Given the description of an element on the screen output the (x, y) to click on. 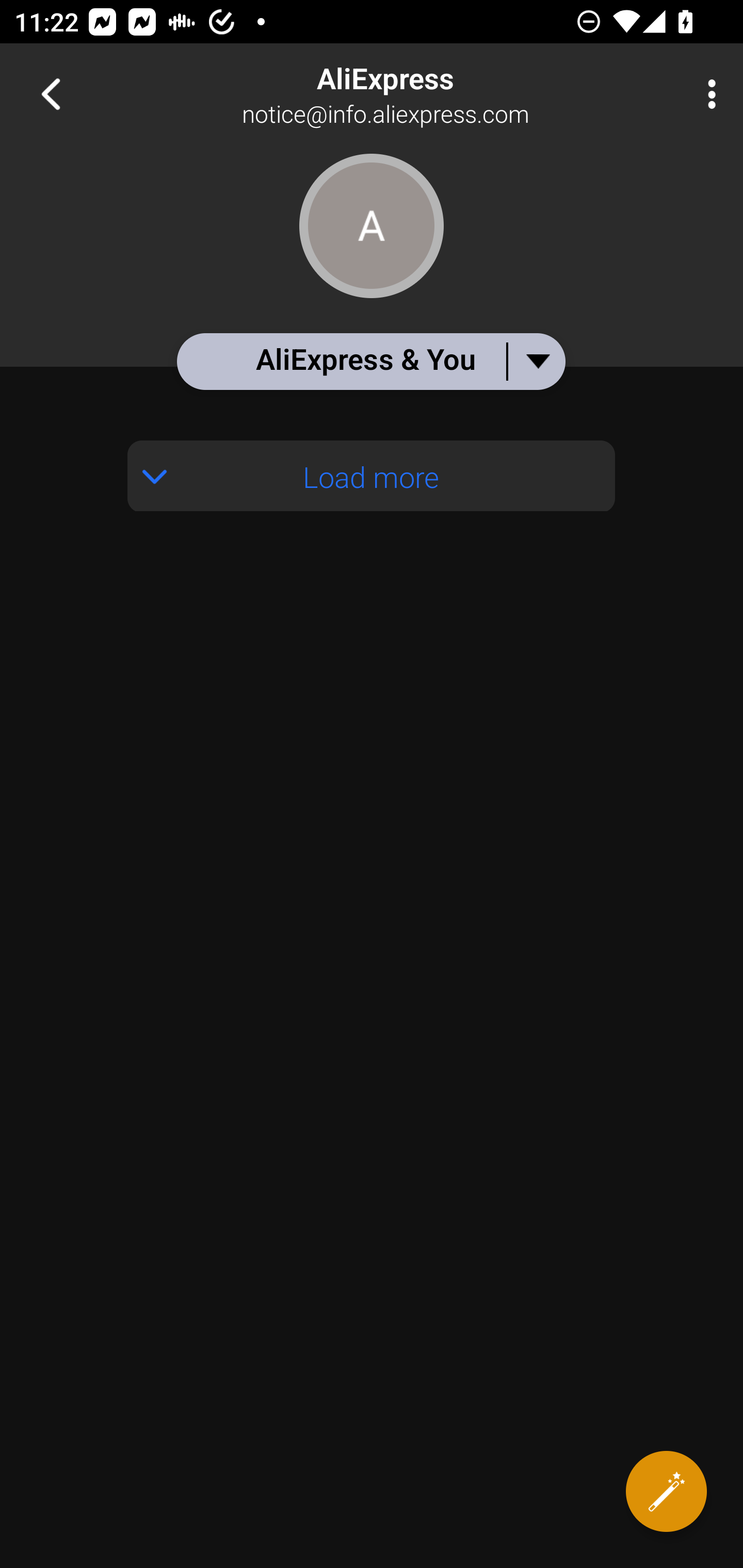
Navigate up (50, 93)
AliExpress notice@info.aliexpress.com (436, 93)
More Options (706, 93)
AliExpress & You (370, 361)
Load more (371, 475)
